Given the description of an element on the screen output the (x, y) to click on. 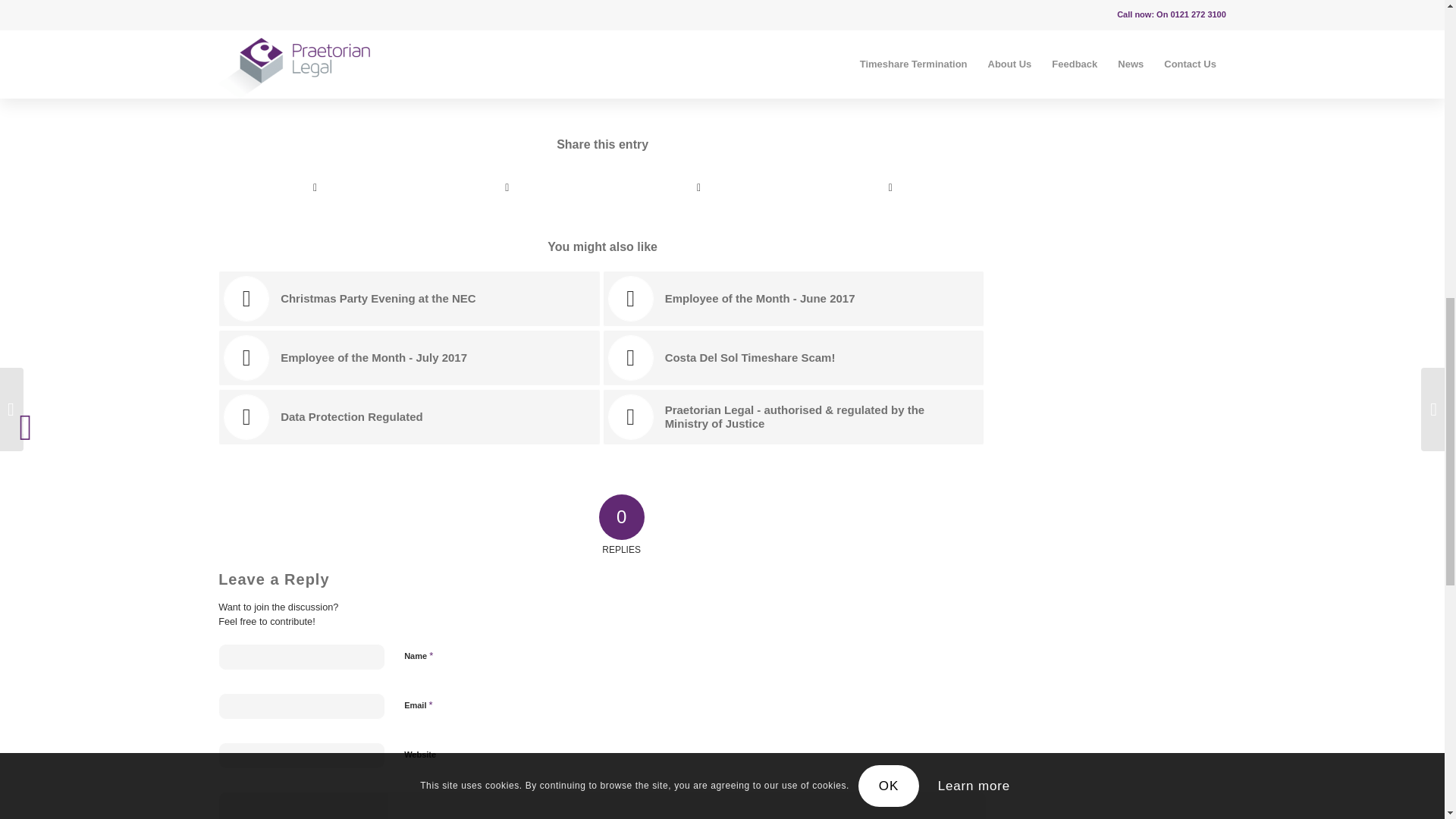
Twitter (263, 54)
Employee of the Month - June 2017 (793, 298)
Email (293, 54)
Facebook (233, 54)
Christmas Party Evening at the NEC (408, 298)
mis-sold (412, 3)
Twitter (263, 54)
Christmas Party Evening at the NEC (408, 298)
Email (293, 54)
Employee of the Month - July 2017 (408, 357)
